Given the description of an element on the screen output the (x, y) to click on. 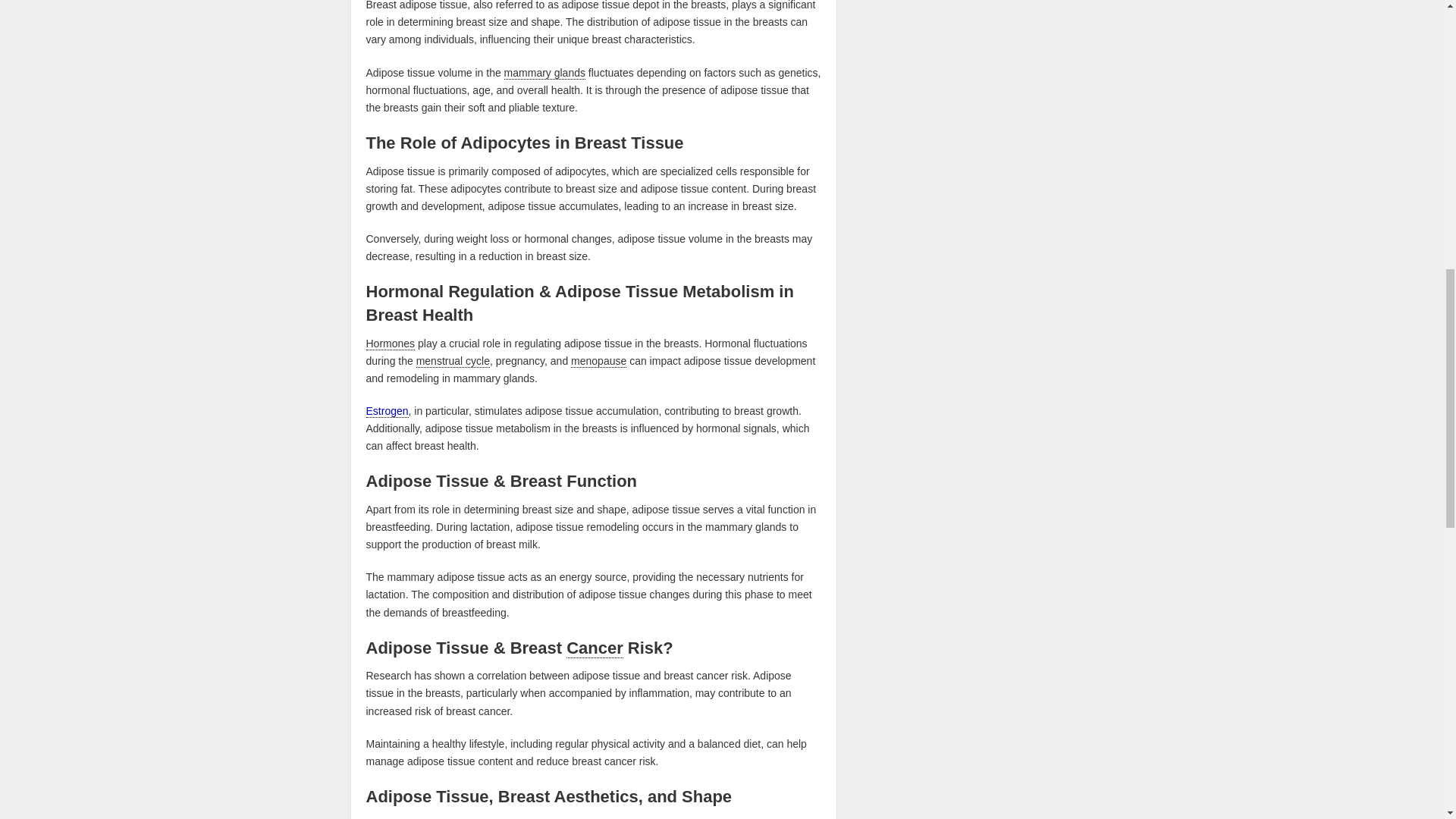
Estrogen (386, 410)
